Given the description of an element on the screen output the (x, y) to click on. 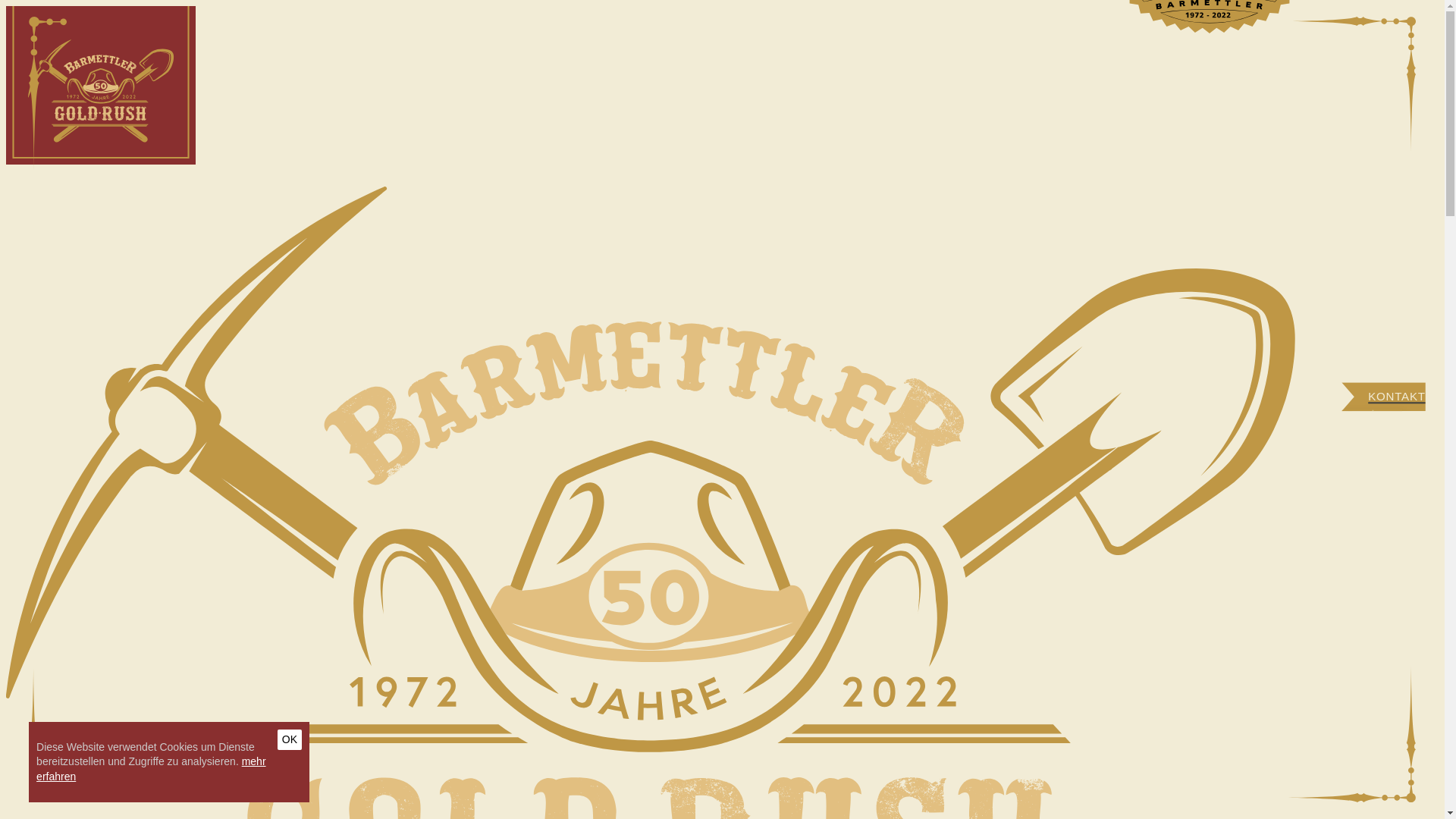
mehr erfahren Element type: text (150, 768)
KONTAKT Element type: text (1383, 407)
OK Element type: text (289, 739)
